Given the description of an element on the screen output the (x, y) to click on. 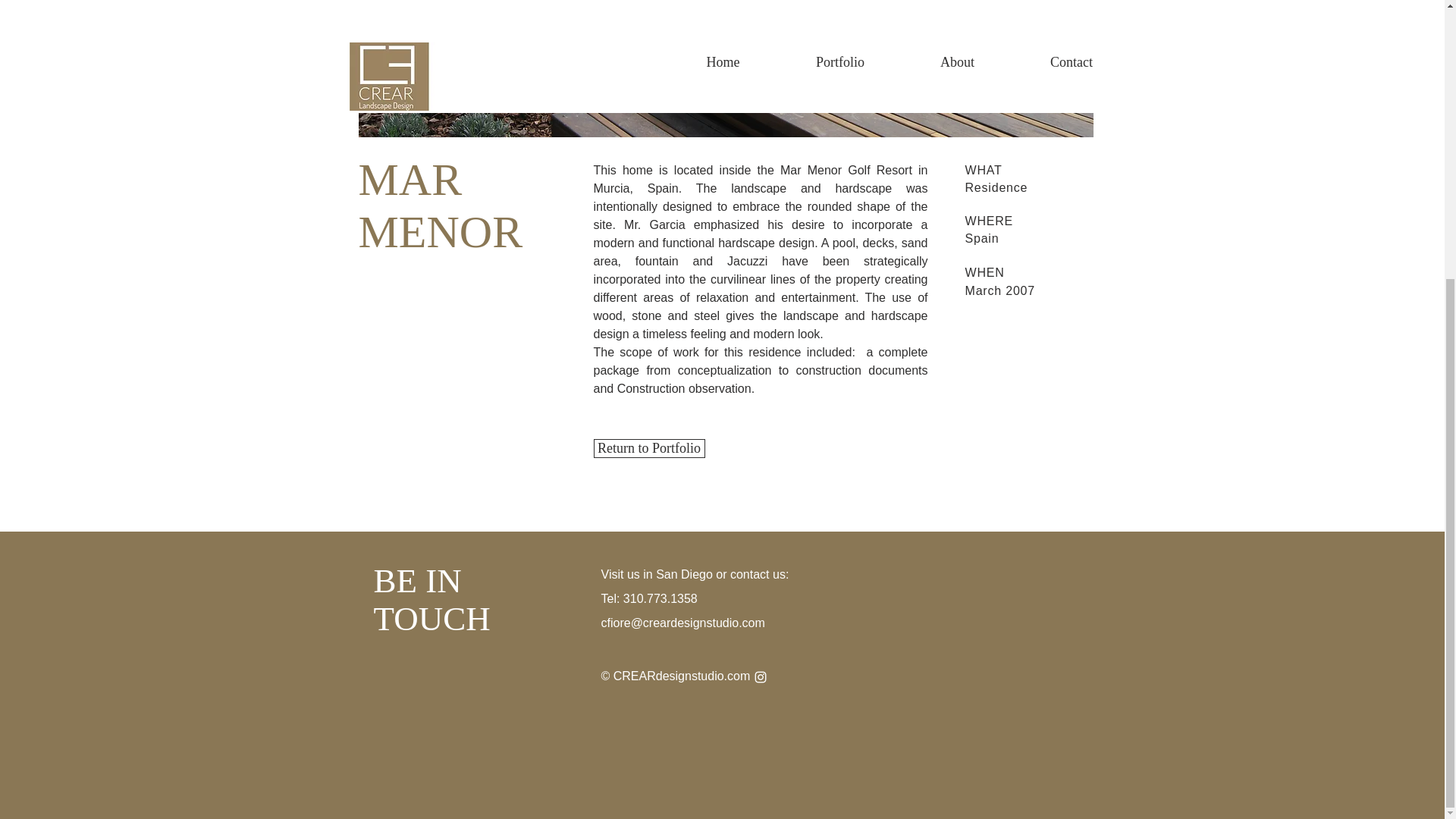
Return to Portfolio (648, 447)
